Given the description of an element on the screen output the (x, y) to click on. 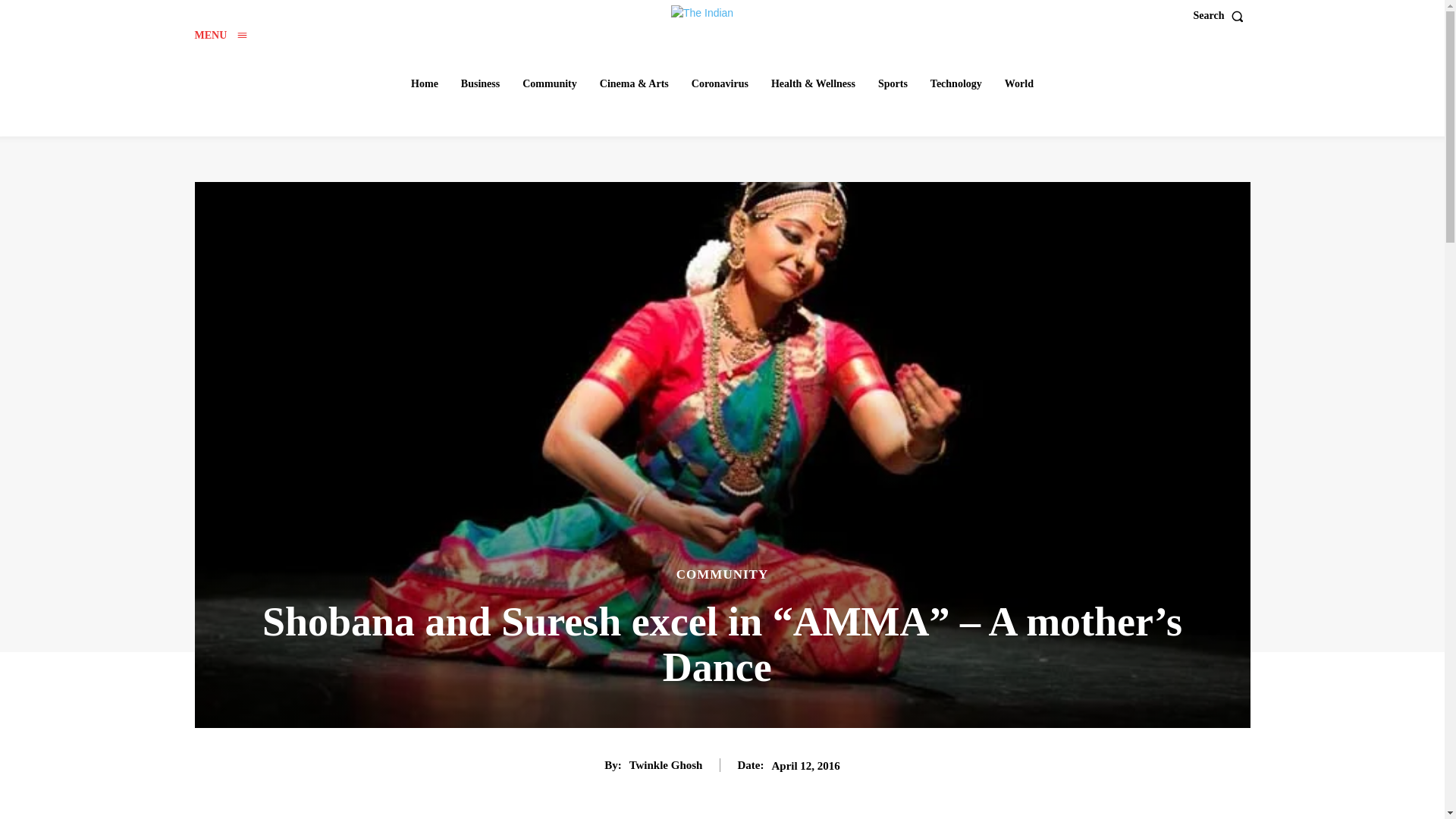
Business (479, 83)
The Indian Telegraph (724, 13)
Coronavirus (719, 83)
Home (424, 83)
World (1019, 83)
Sports (892, 83)
Technology (956, 83)
Community (550, 83)
MENU (220, 34)
Search (1221, 15)
